Given the description of an element on the screen output the (x, y) to click on. 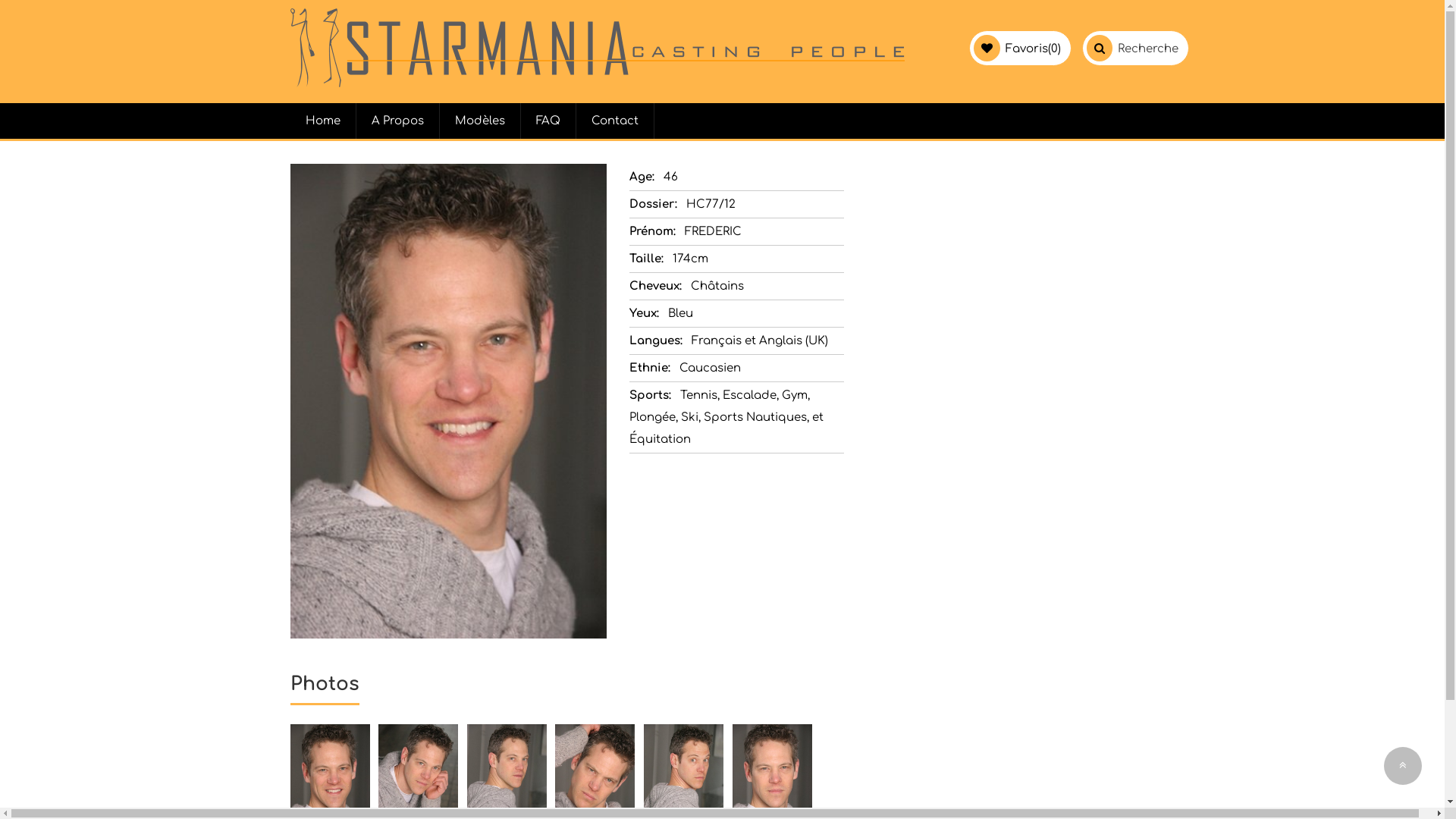
A Propos Element type: text (397, 120)
Favoris(0) Element type: text (1032, 48)
FREDERIC Element type: hover (596, 83)
Home Element type: text (322, 120)
Contact Element type: text (615, 120)
FAQ Element type: text (547, 120)
